Given the description of an element on the screen output the (x, y) to click on. 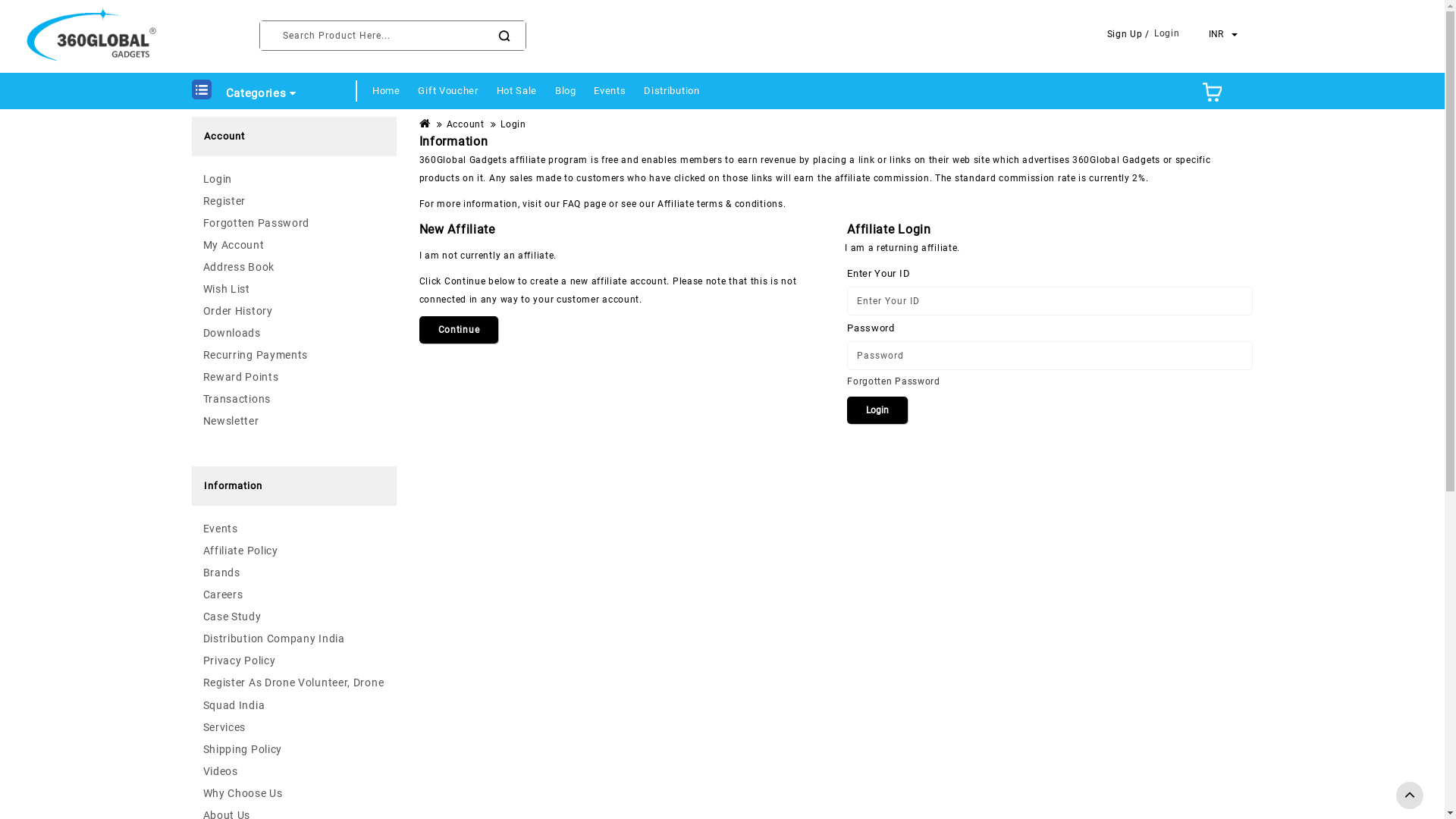
Home Element type: text (385, 85)
Wish List Element type: text (294, 288)
Sign Up / Element type: text (1128, 33)
Address Book Element type: text (294, 266)
Recurring Payments Element type: text (294, 354)
Events Element type: text (609, 85)
Blog Element type: text (565, 85)
Downloads Element type: text (294, 332)
Hot Sale Element type: text (517, 85)
360Global Gadgets Element type: hover (92, 36)
Case Study Element type: text (294, 616)
Register Element type: text (294, 200)
Reward Points Element type: text (294, 376)
Affiliate Policy Element type: text (294, 550)
Services Element type: text (294, 726)
Forgotten Password Element type: text (294, 222)
Login Element type: text (513, 124)
Newsletter Element type: text (294, 420)
My Account Element type: text (294, 244)
Shipping Policy Element type: text (294, 748)
Gift Voucher Element type: text (447, 85)
INR   Element type: text (1224, 33)
Privacy Policy Element type: text (294, 660)
Forgotten Password Element type: text (893, 381)
TOP Element type: text (1409, 795)
Events Element type: text (294, 528)
Why Choose Us Element type: text (294, 792)
Distribution Company India Element type: text (294, 638)
Login Element type: text (877, 409)
Login Element type: text (1166, 33)
Videos Element type: text (294, 770)
Careers Element type: text (294, 594)
Continue Element type: text (458, 329)
Register As Drone Volunteer, Drone Squad India Element type: text (294, 693)
Transactions Element type: text (294, 398)
Brands Element type: text (294, 572)
Account Element type: text (465, 124)
Order History Element type: text (294, 310)
Login Element type: text (294, 178)
Distribution Element type: text (671, 85)
